Given the description of an element on the screen output the (x, y) to click on. 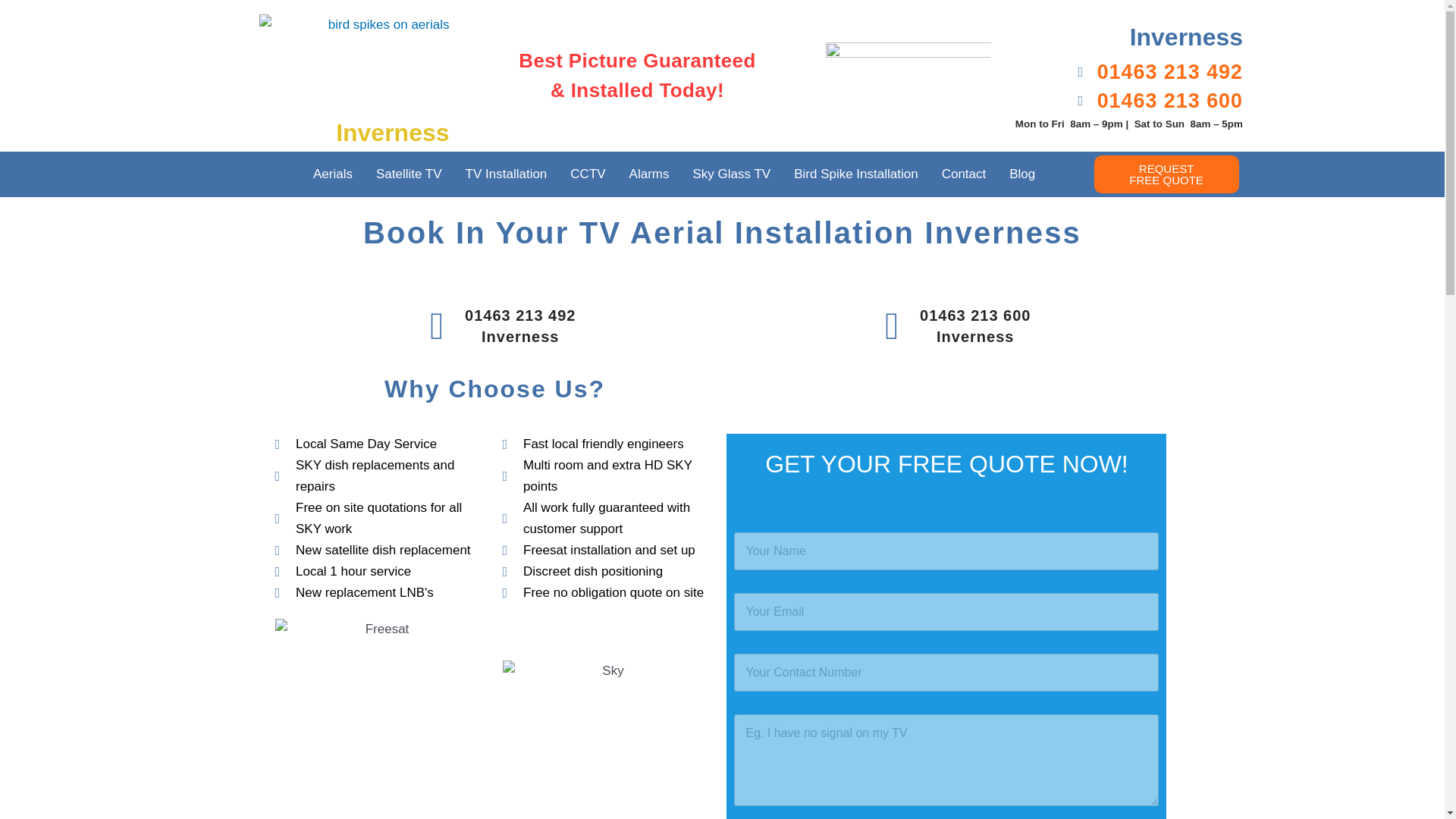
REQUEST FREE QUOTE (1166, 174)
Bird Spike Installation (855, 174)
Contact (963, 174)
01463 213 492 (1124, 71)
Blog (1021, 174)
Satellite TV (408, 174)
01463 213 600 (1124, 100)
CCTV (587, 174)
Aerials (332, 174)
Sky Glass TV (731, 174)
TV Installation (506, 174)
Alarms (649, 174)
